Given the description of an element on the screen output the (x, y) to click on. 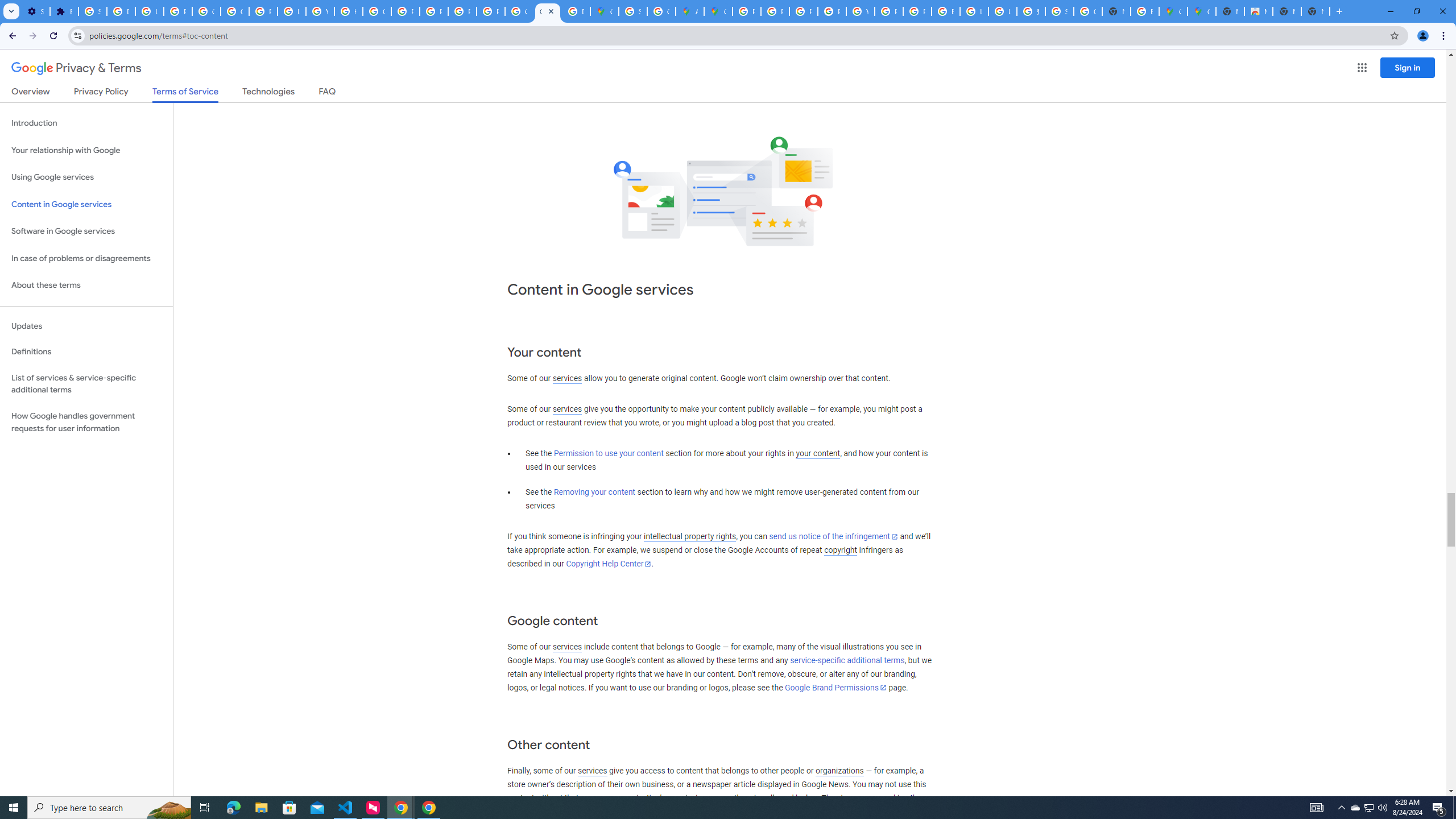
Terms of Service (184, 94)
